Given the description of an element on the screen output the (x, y) to click on. 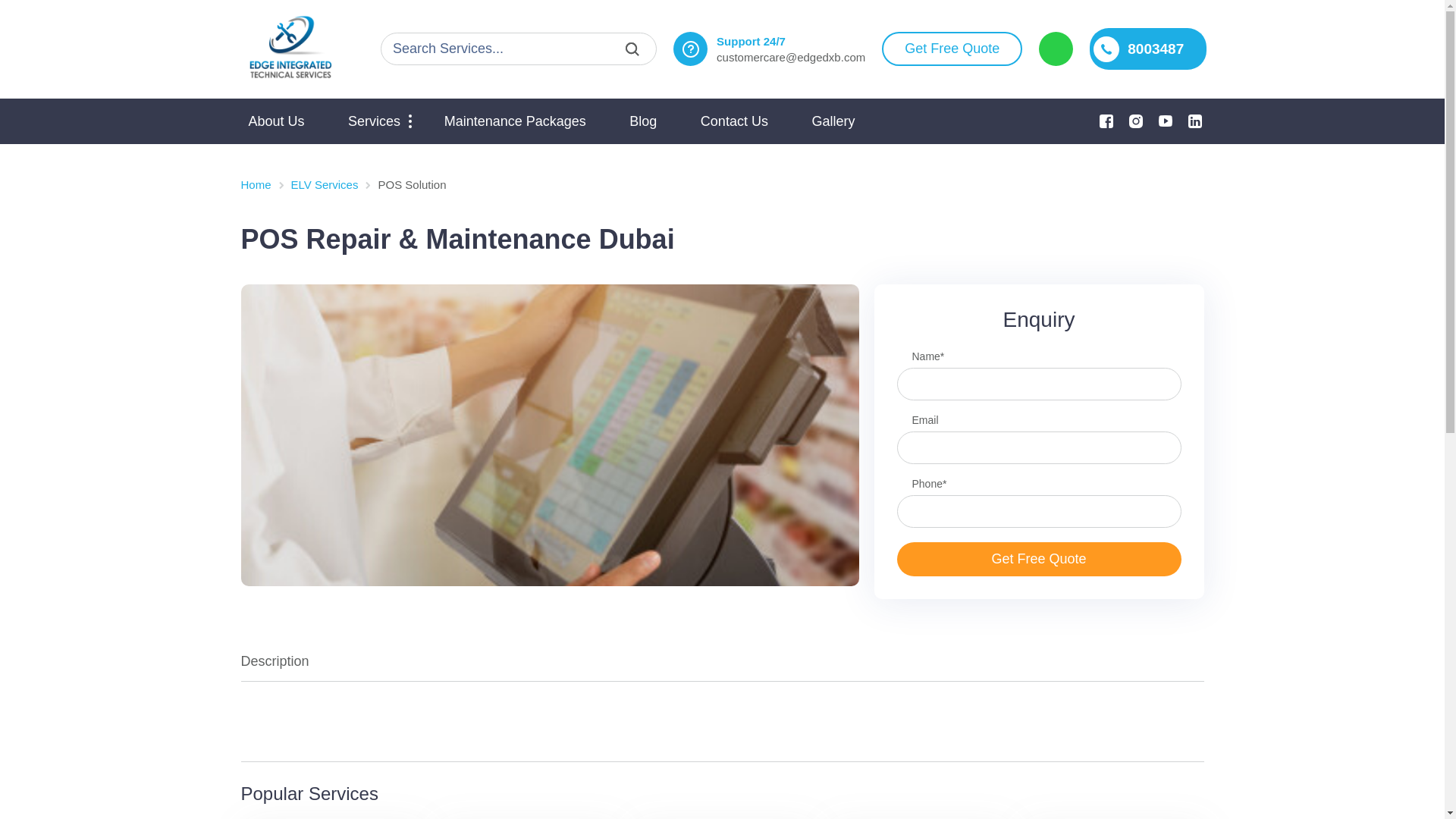
About Us (277, 121)
Maintenance Packages (515, 121)
Get Free Quote (952, 48)
Edge DXB (290, 49)
8003487 (1148, 48)
